Given the description of an element on the screen output the (x, y) to click on. 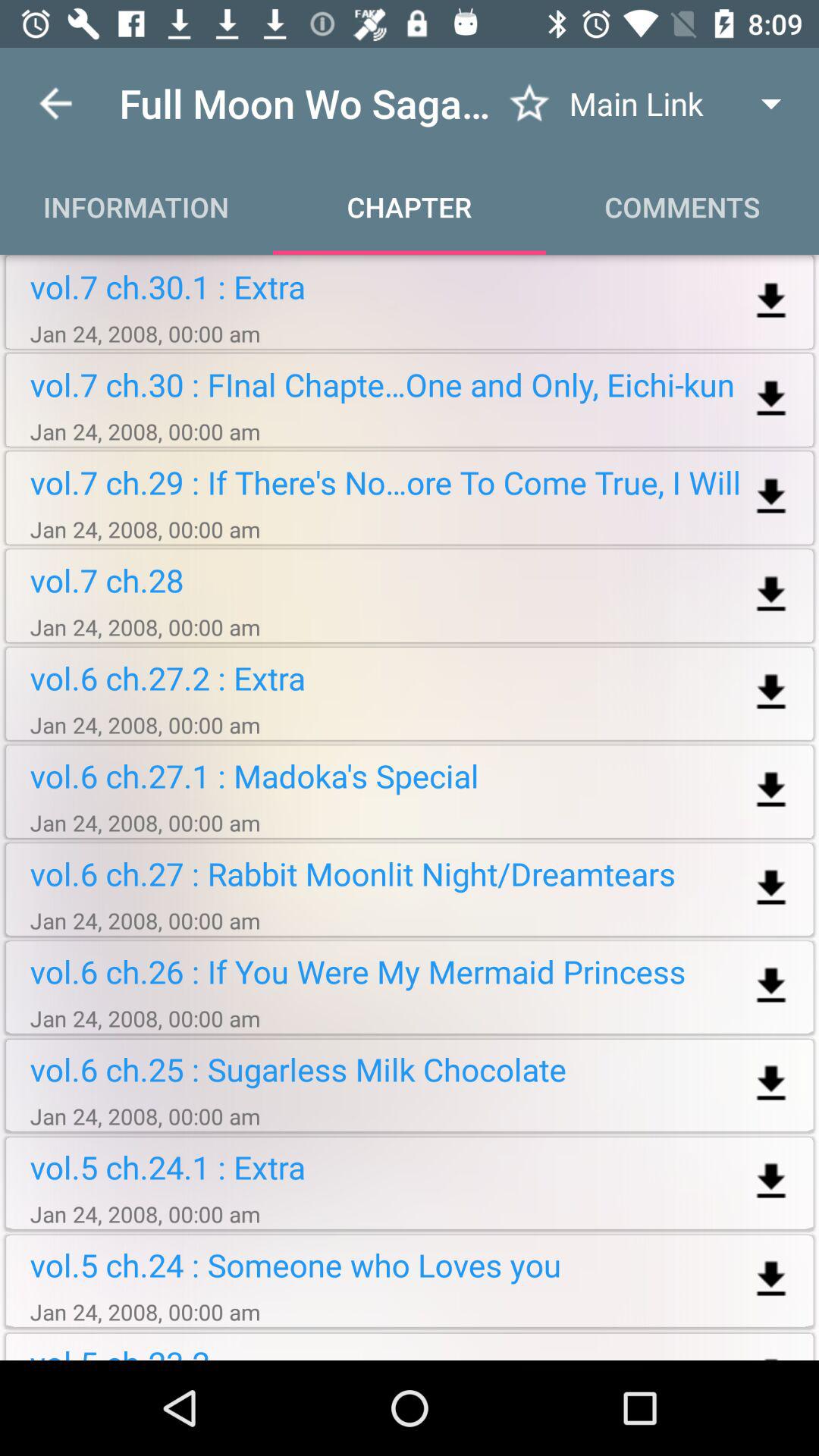
downloads the track (771, 888)
